Given the description of an element on the screen output the (x, y) to click on. 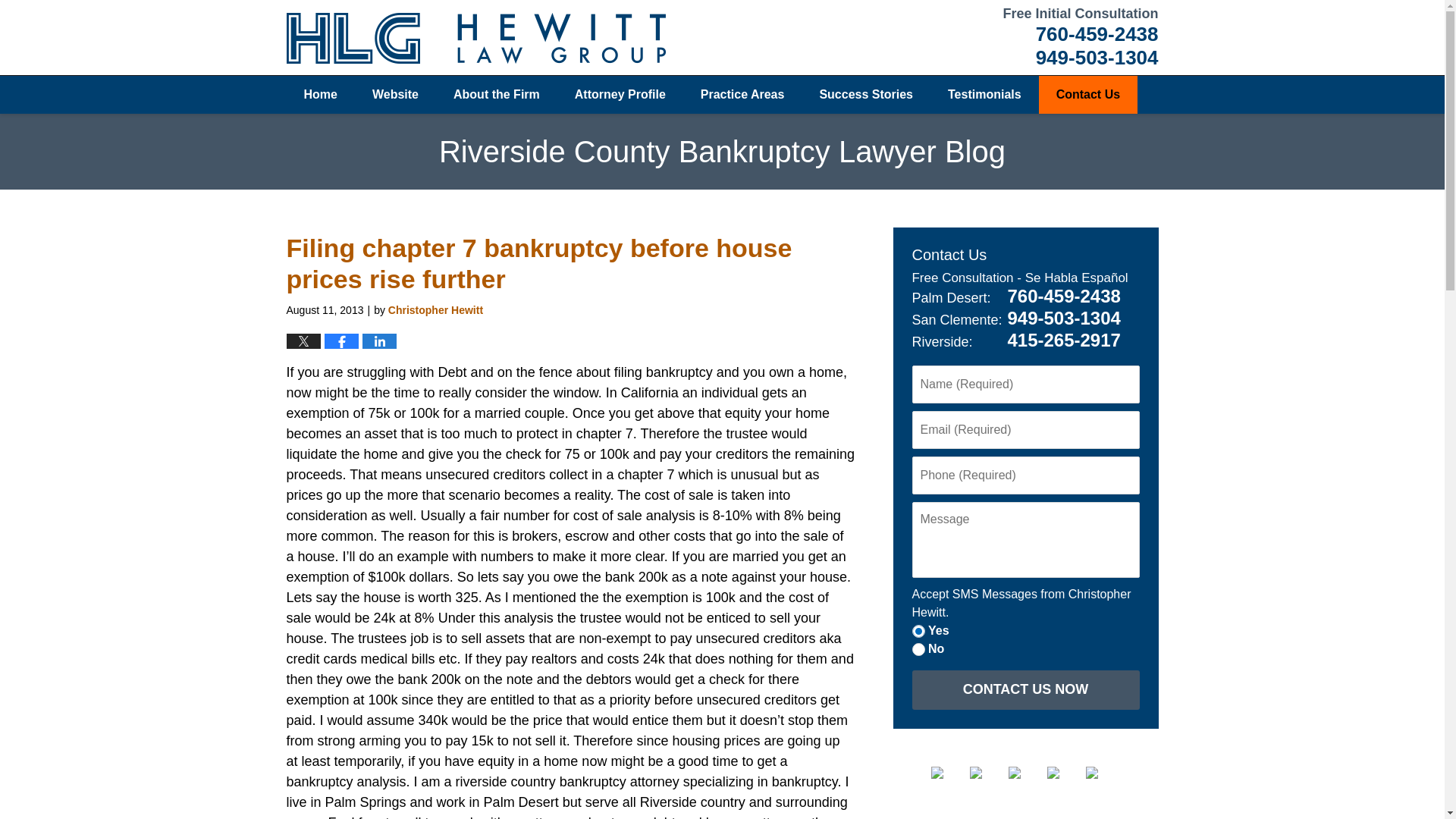
Facebook (948, 772)
Yes (917, 631)
Testimonials (984, 94)
Practice Areas (742, 94)
About the Firm (496, 94)
Riverside County Bankruptcy Lawyer Blog (475, 37)
Justia (1063, 772)
Website (395, 94)
Home (320, 94)
Please enter a valid phone number. (1024, 475)
